Given the description of an element on the screen output the (x, y) to click on. 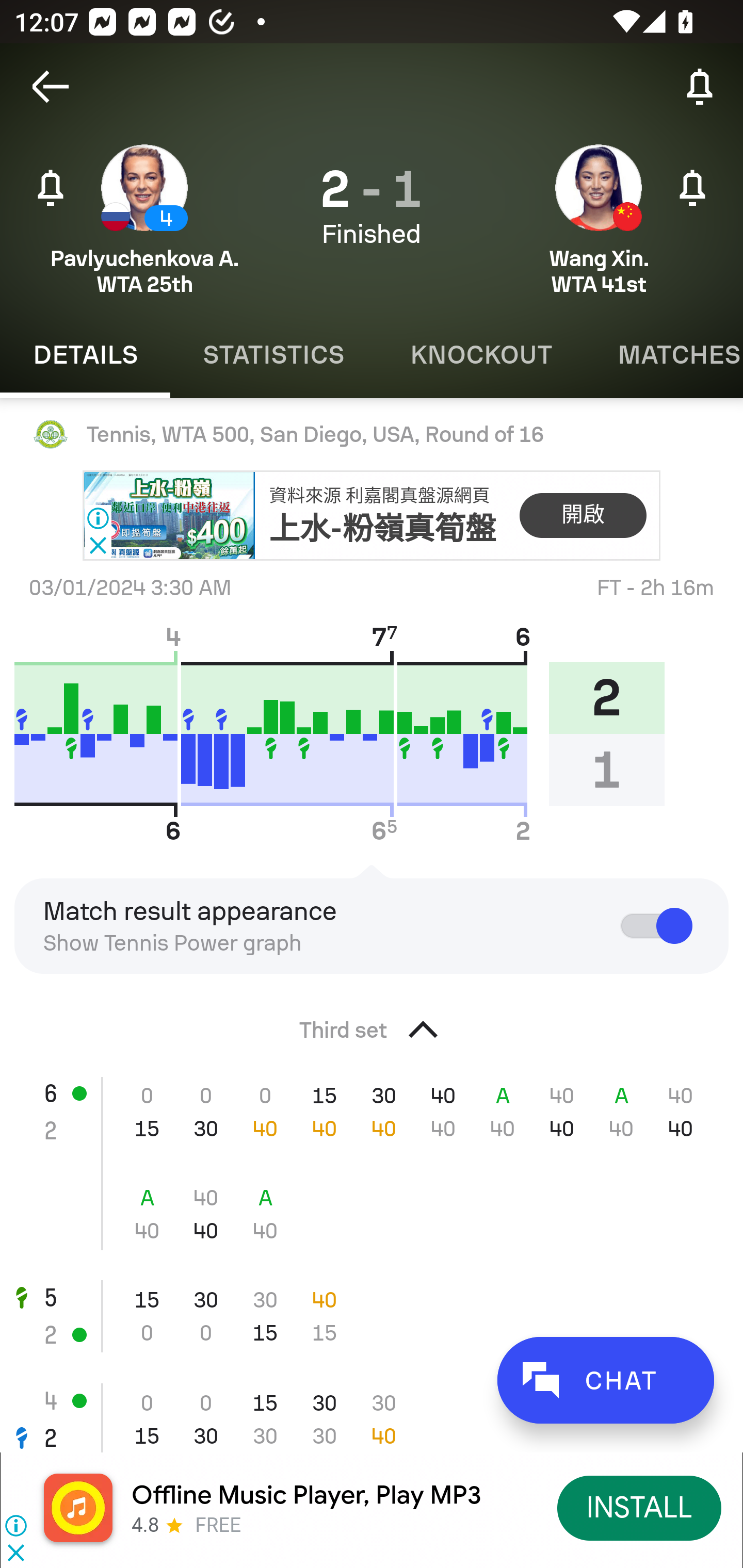
Navigate up (50, 86)
Statistics STATISTICS (273, 355)
Knockout KNOCKOUT (480, 355)
Matches MATCHES (663, 355)
Tennis, WTA 500, San Diego, USA, Round of 16 (371, 434)
B30001746 (168, 515)
資料來源 利嘉閣真盤源網頁 (379, 496)
開啟 (582, 515)
上水-粉嶺真筍盤 (382, 528)
4 6 7 7 6 5 6 2 2 1 (346, 733)
Third set (371, 1023)
A 40 A 40 40 40 (371, 1214)
5 15 30 30 40 2 0 0 15 15 (371, 1316)
CHAT (605, 1380)
4 0 0 15 30 30 2 15 30 30 30 40 (371, 1409)
INSTALL (639, 1507)
Offline Music Player, Play MP3 (306, 1494)
